Given the description of an element on the screen output the (x, y) to click on. 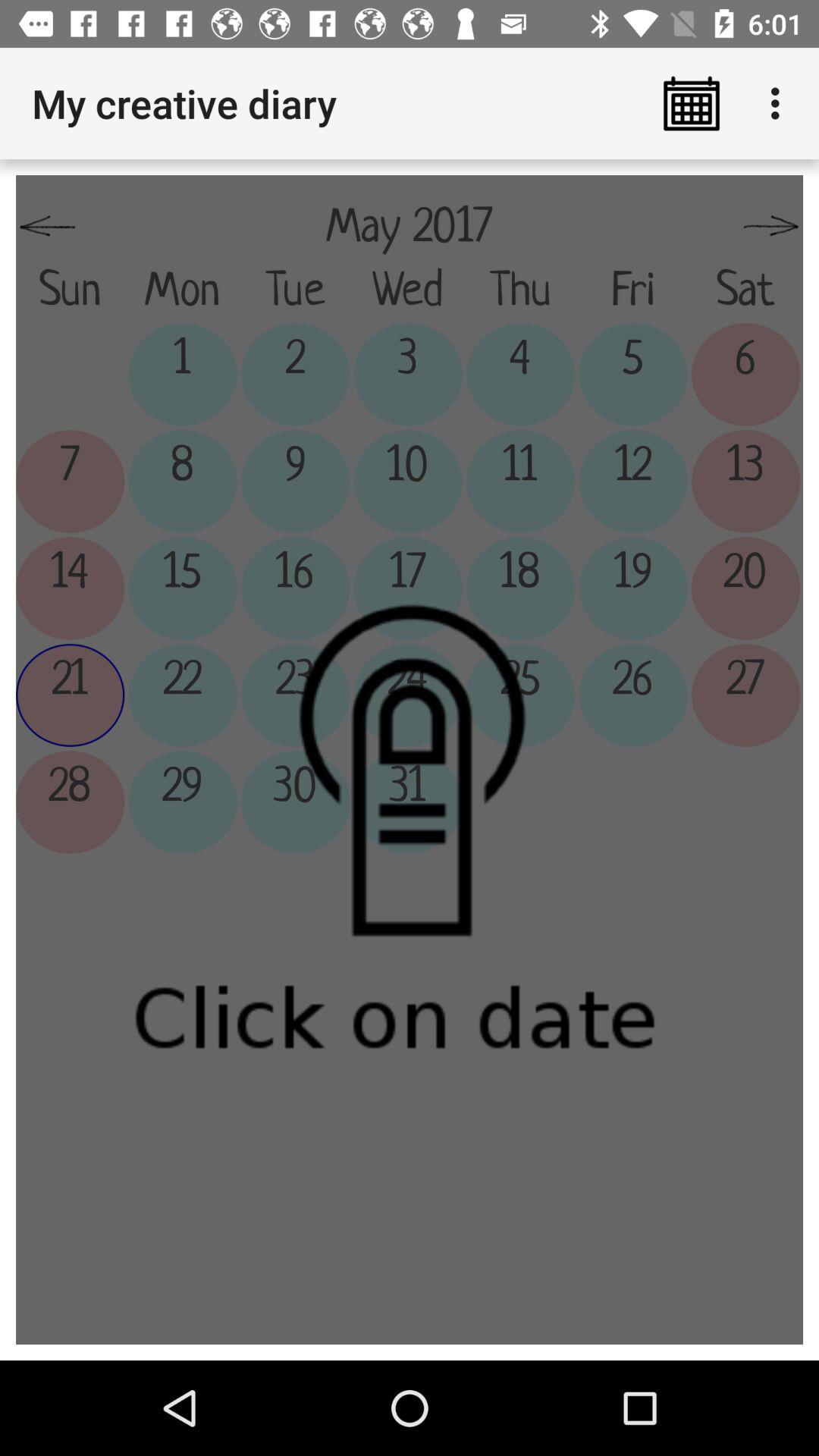
turn off the icon above the sat icon (771, 226)
